Given the description of an element on the screen output the (x, y) to click on. 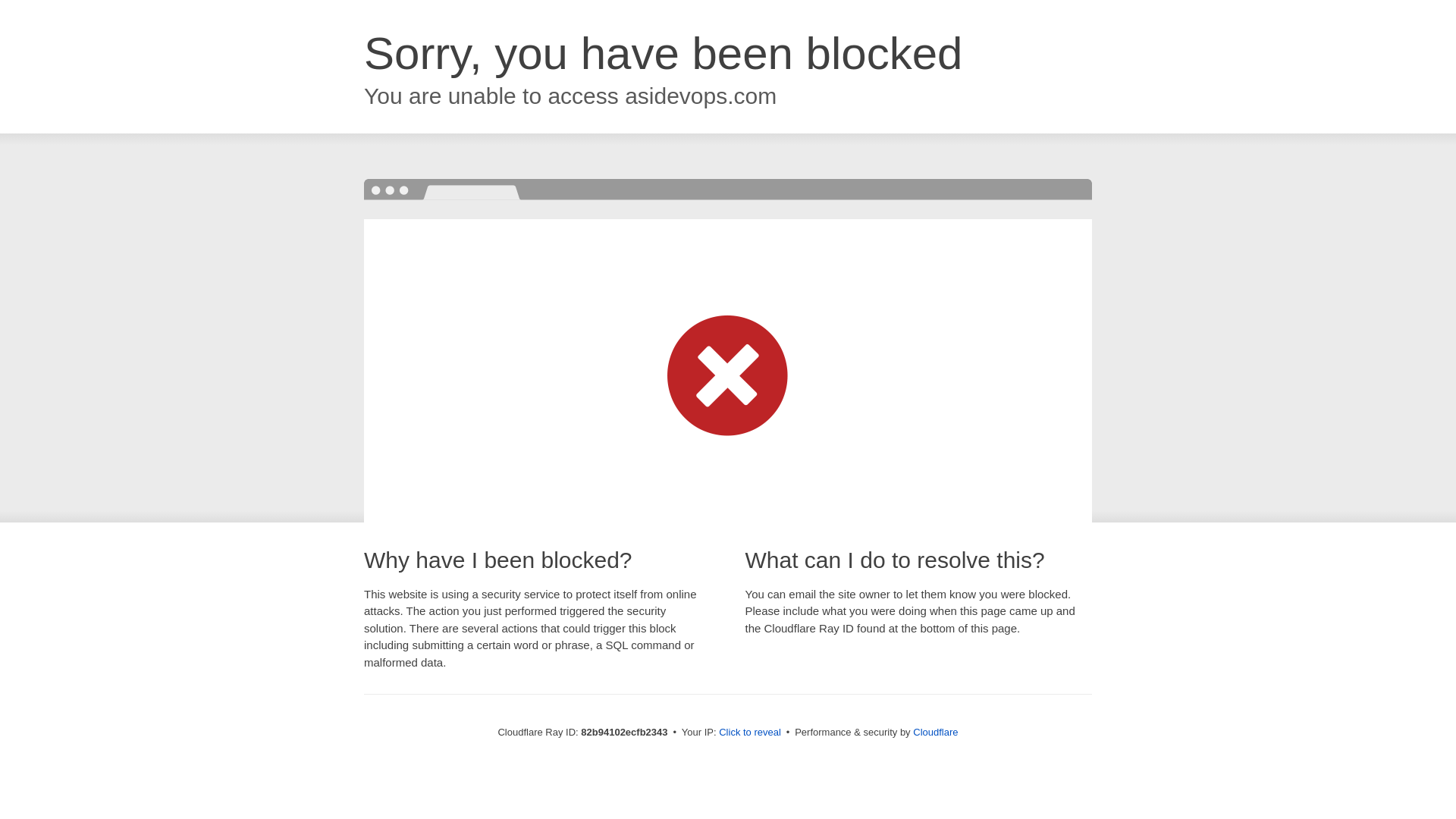
Cloudflare Element type: text (935, 731)
Click to reveal Element type: text (749, 732)
